Given the description of an element on the screen output the (x, y) to click on. 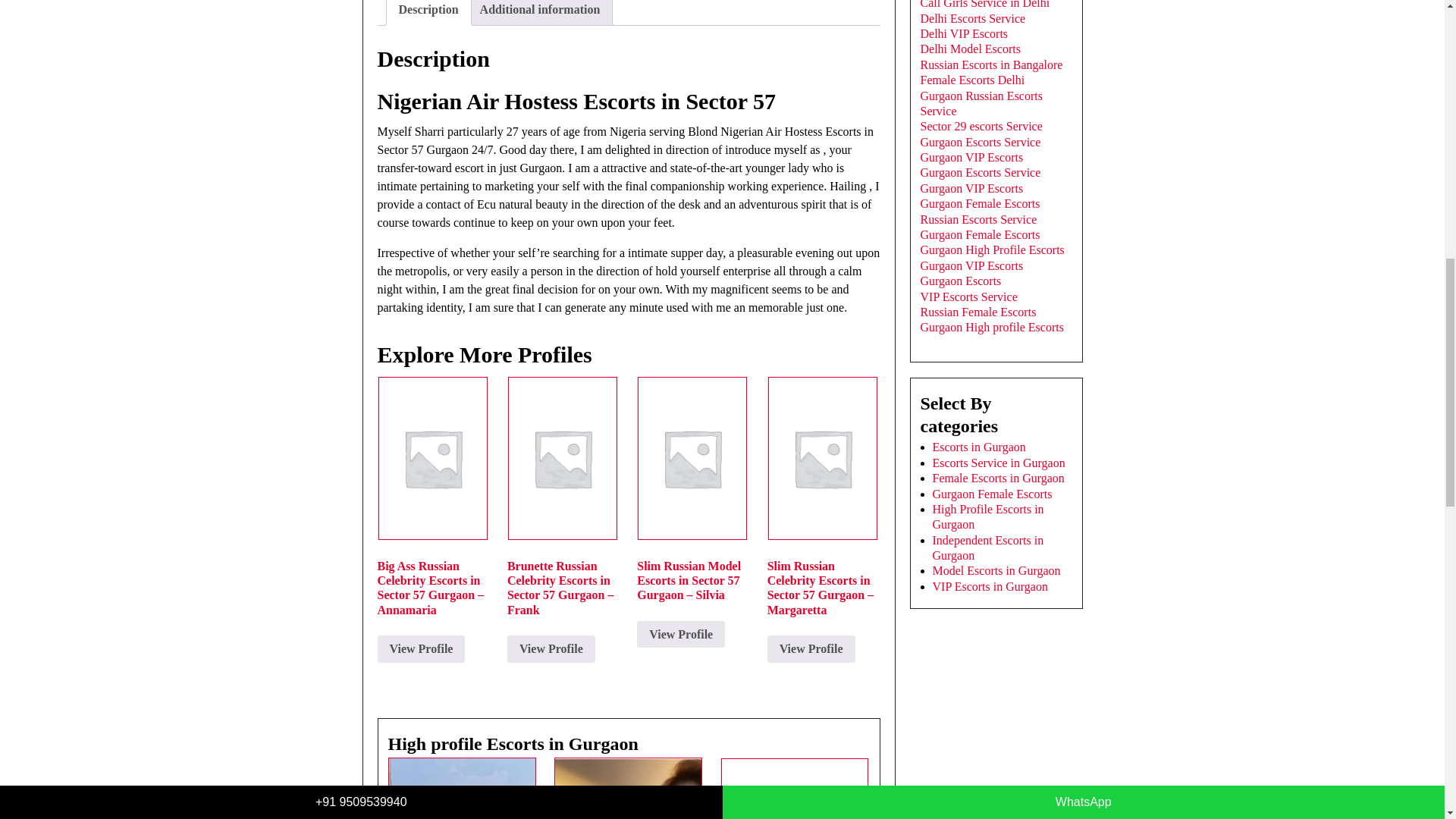
Additional information (539, 12)
View Profile (421, 648)
Description (428, 12)
